Given the description of an element on the screen output the (x, y) to click on. 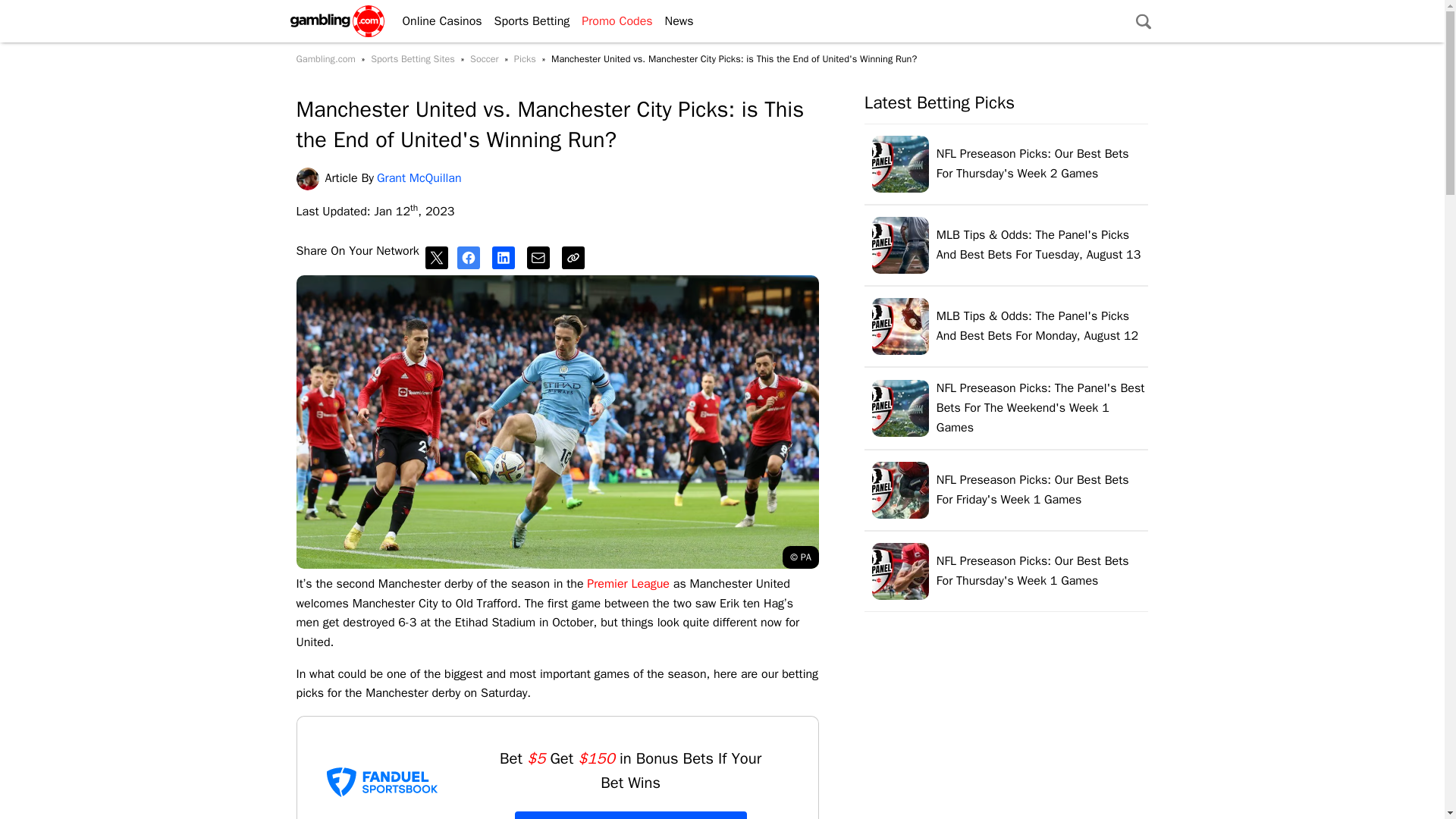
Sports Betting (525, 21)
Online Casinos (435, 21)
Grant McQuillan (309, 178)
FanDuel Sports (381, 781)
Copy URL (576, 257)
